Given the description of an element on the screen output the (x, y) to click on. 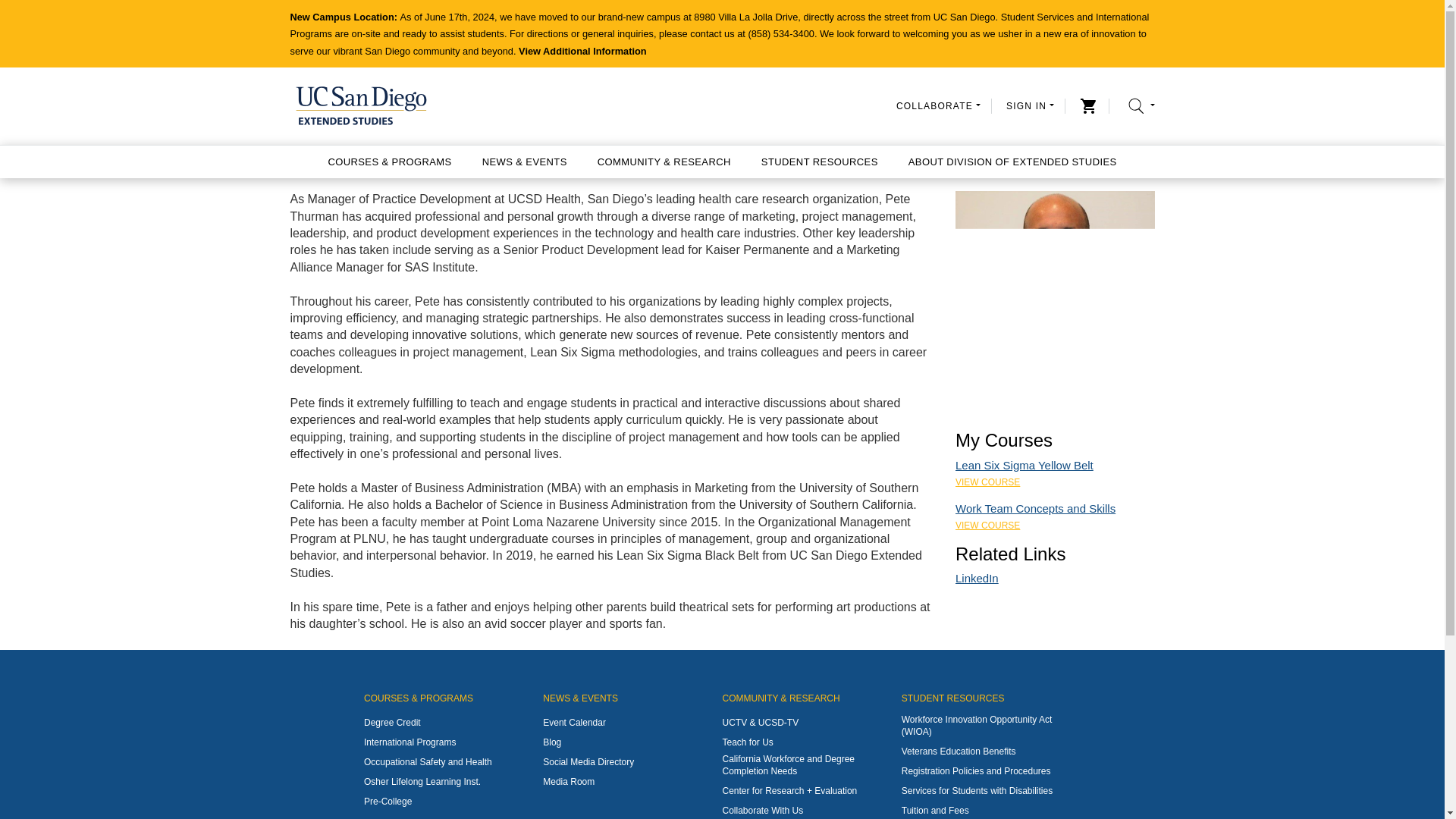
View Additional Information (582, 50)
COLLABORATE (937, 105)
SIGN IN (1030, 105)
